Given the description of an element on the screen output the (x, y) to click on. 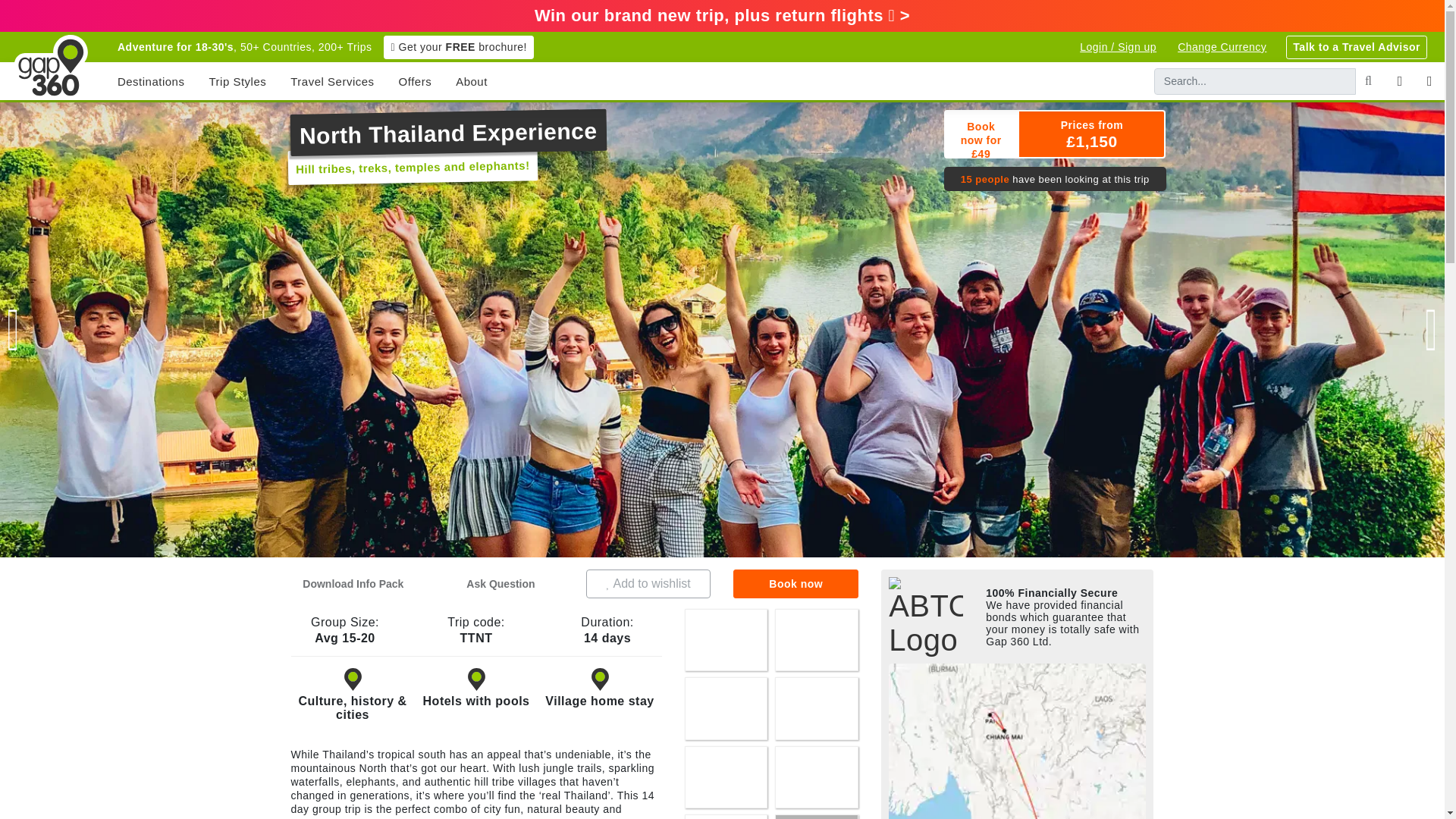
View all our destinations (150, 80)
Get your FREE brochure! (459, 46)
Destinations (150, 80)
Change Currency (1222, 46)
Talk to a Travel Advisor (1355, 46)
